Given the description of an element on the screen output the (x, y) to click on. 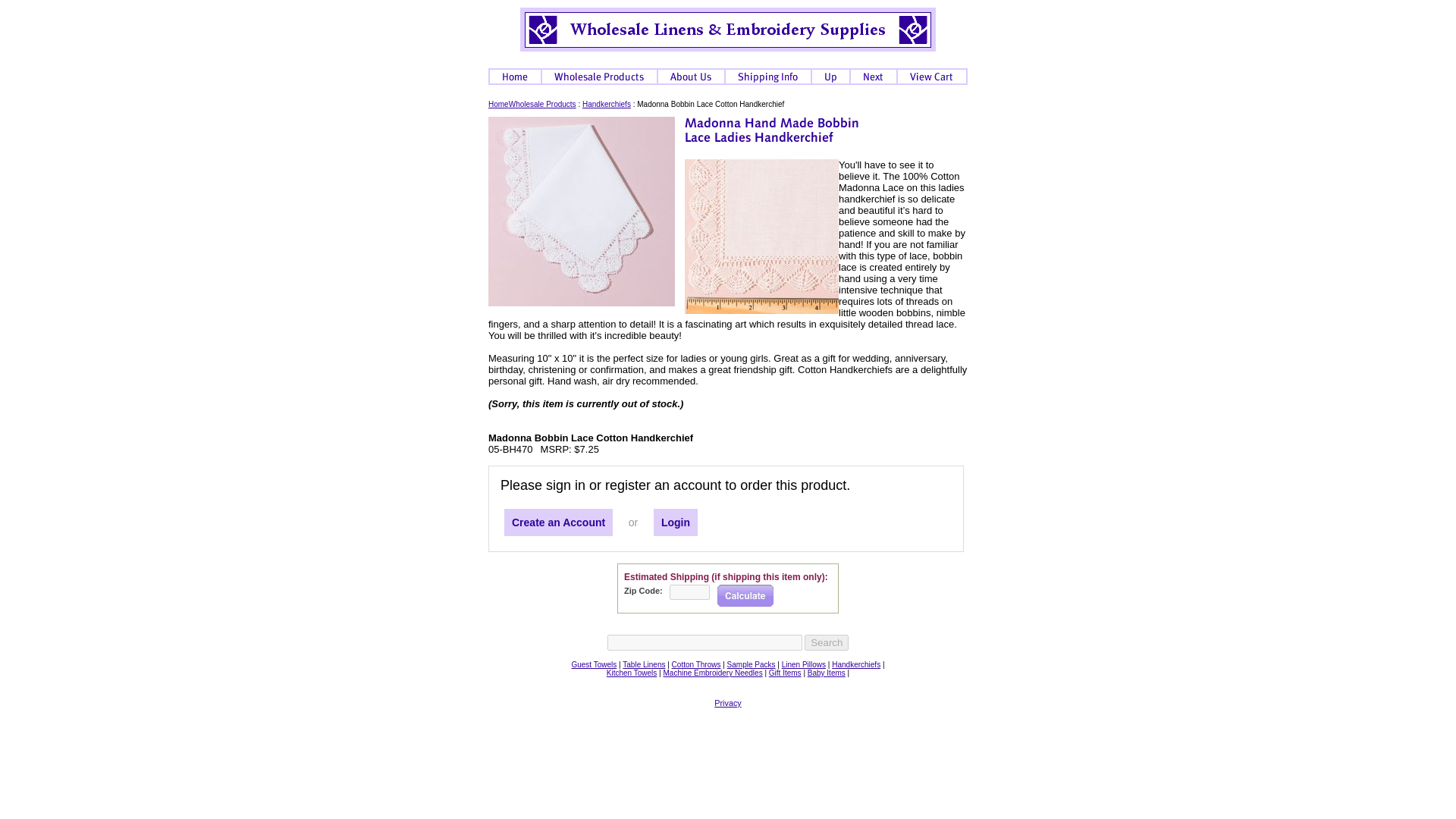
Handkerchiefs (855, 664)
Home (497, 103)
Baby Items (826, 673)
Guest Towels (592, 664)
Login (675, 522)
Table Linens (644, 664)
Cotton Throws (695, 664)
Search (826, 642)
Handkerchiefs (606, 103)
Kitchen Towels (632, 673)
Machine Embroidery Needles (711, 673)
Linen Pillows (803, 664)
Create an Account (558, 522)
Privacy (727, 702)
Gift Items (785, 673)
